Given the description of an element on the screen output the (x, y) to click on. 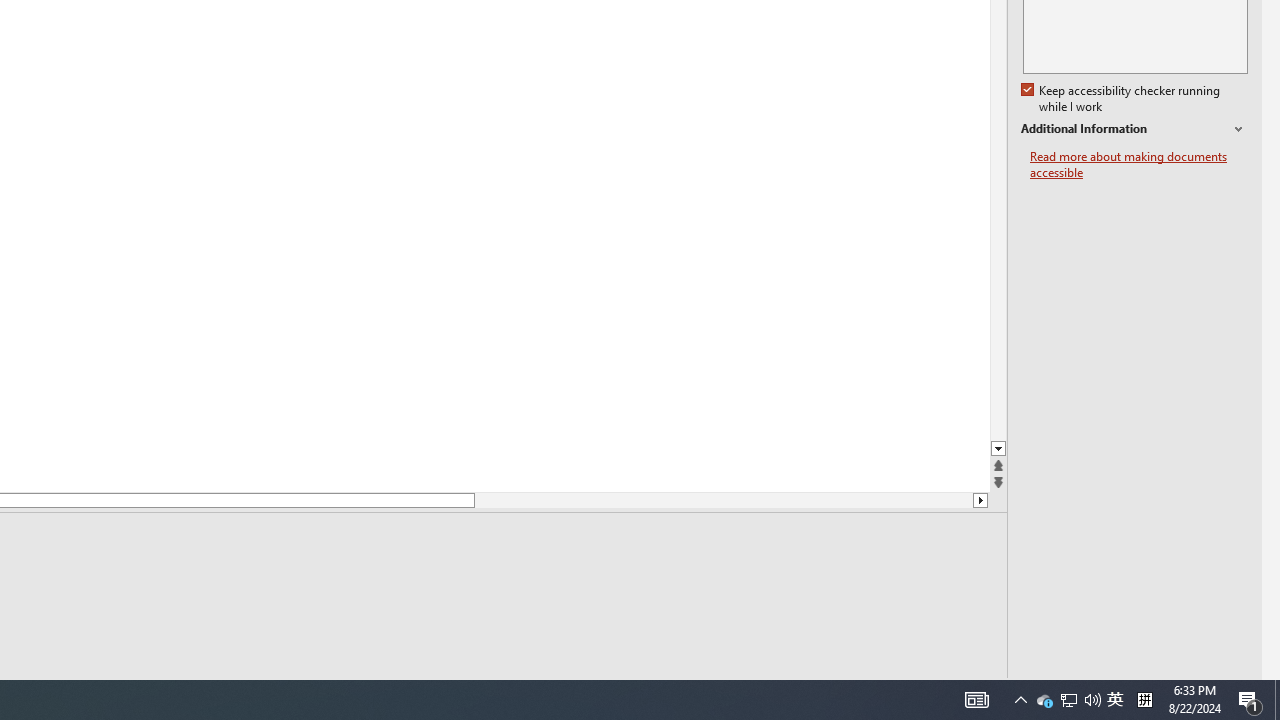
Additional Information (1134, 129)
Slide Show Next On (924, 691)
Line down (980, 500)
Read more about making documents accessible (1139, 164)
Page down (723, 500)
Keep accessibility checker running while I work (1122, 99)
Slide Show Previous On (860, 691)
Menu On (892, 691)
